Given the description of an element on the screen output the (x, y) to click on. 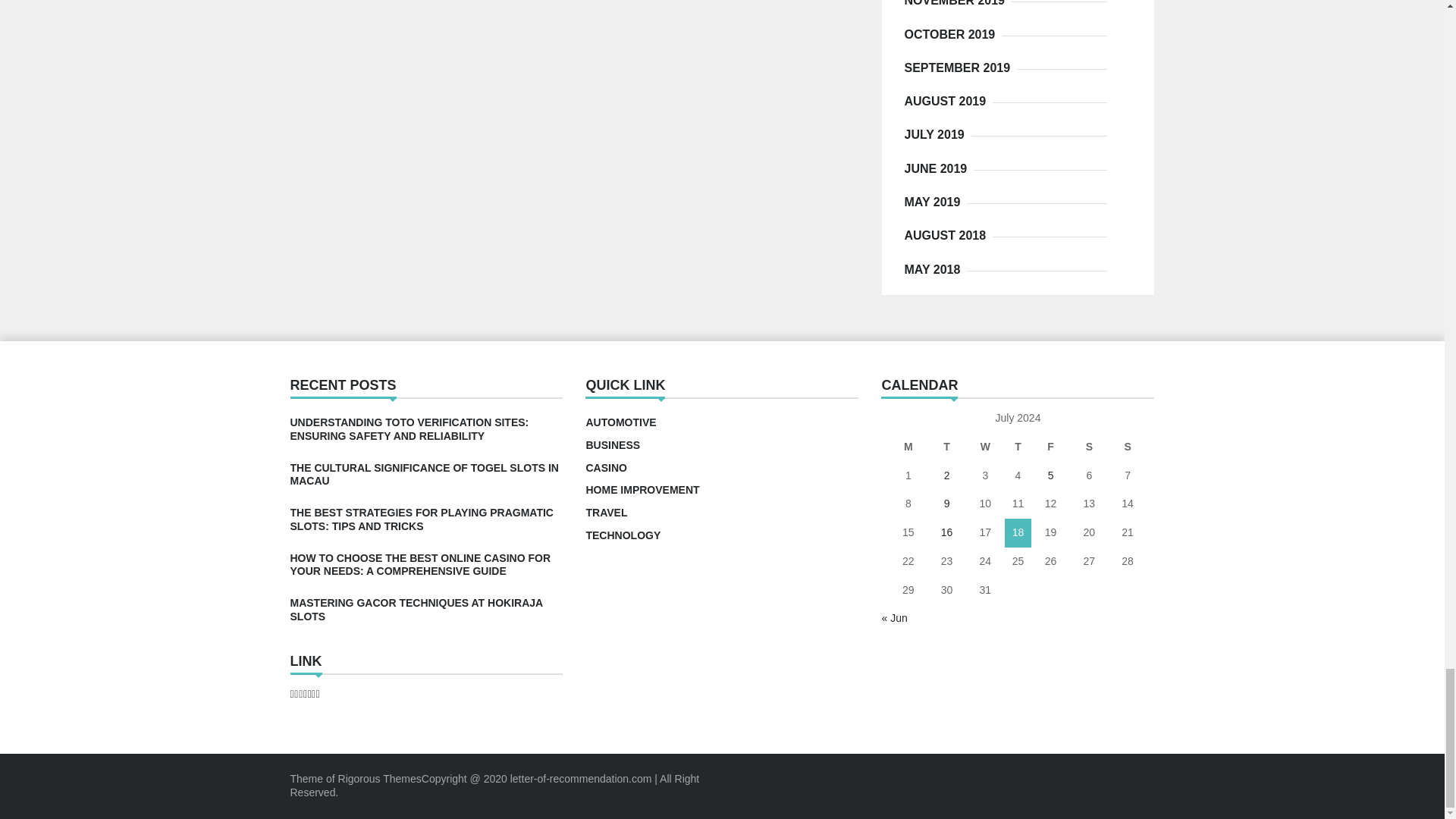
Tuesday (946, 447)
Thursday (1018, 447)
Wednesday (985, 447)
Monday (907, 447)
Saturday (1089, 447)
Friday (1050, 447)
Sunday (1127, 447)
